Given the description of an element on the screen output the (x, y) to click on. 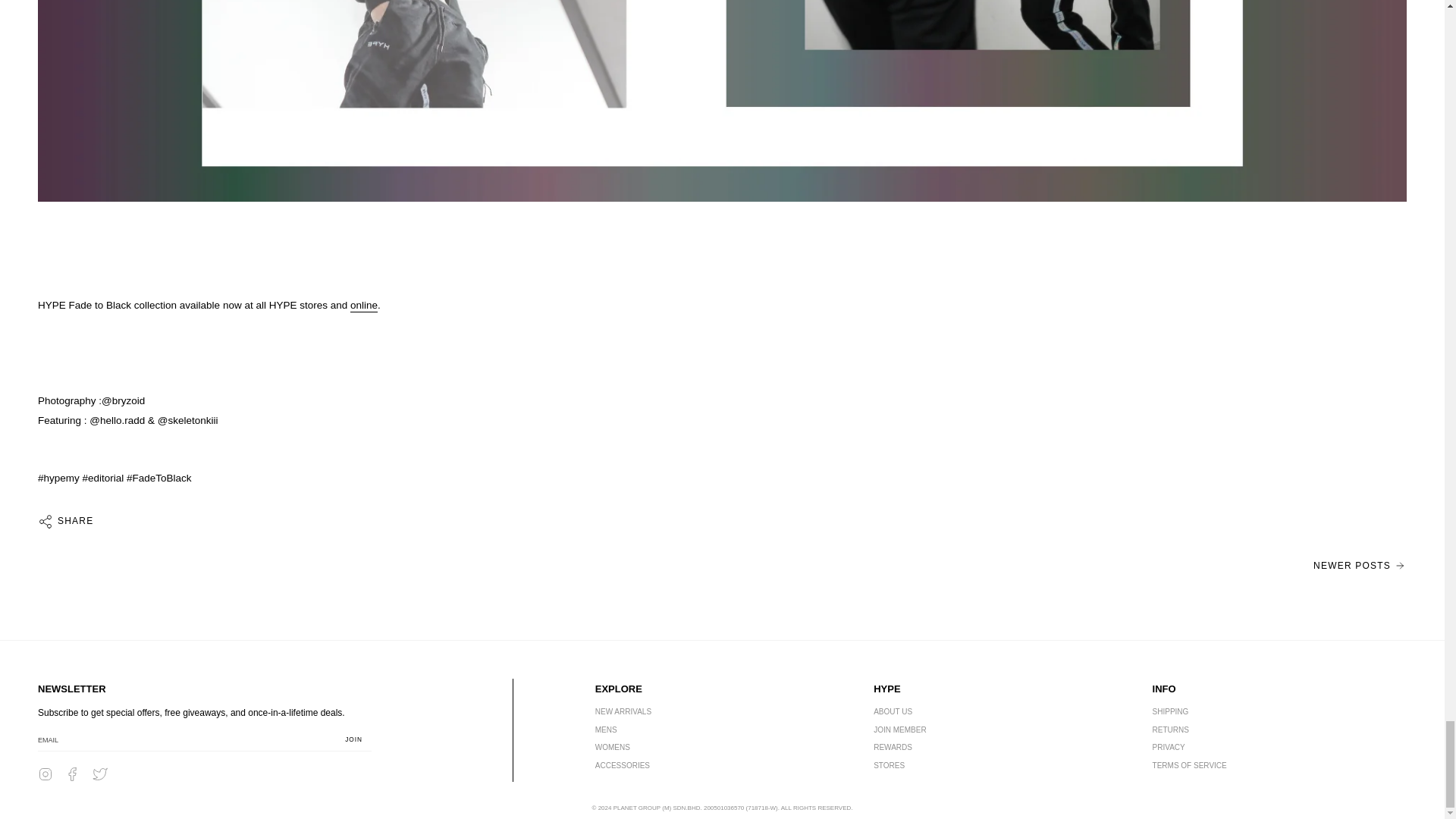
HYPE X NASTY JUG by Irvine Quek (1359, 565)
HYPE on Facebook (72, 773)
HYPE on Instagram (44, 773)
HYPE on Twitter (100, 773)
HYPE Fade To Black Collection Season 2 (363, 306)
